Given the description of an element on the screen output the (x, y) to click on. 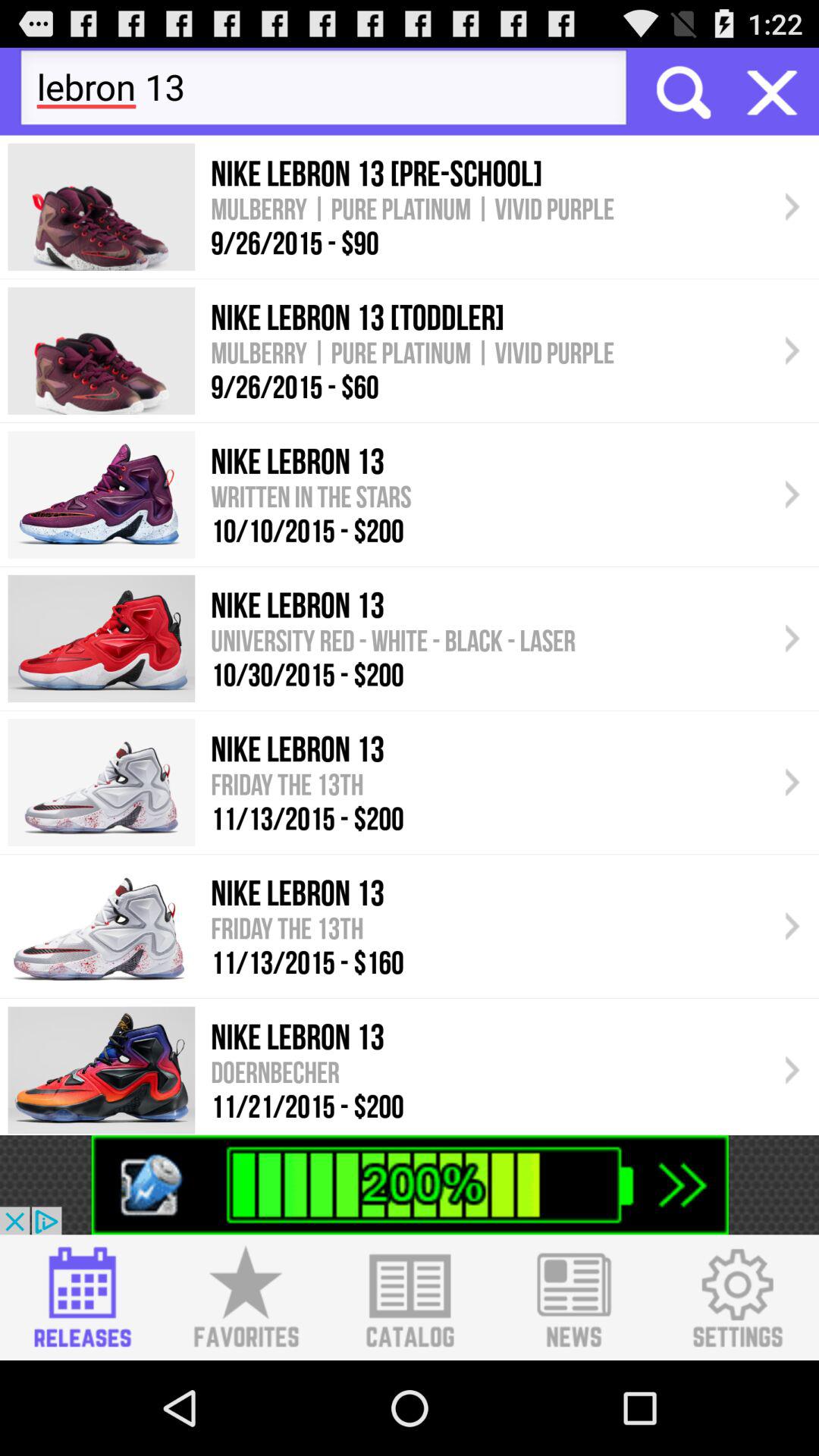
enter the searcg box (682, 91)
